Given the description of an element on the screen output the (x, y) to click on. 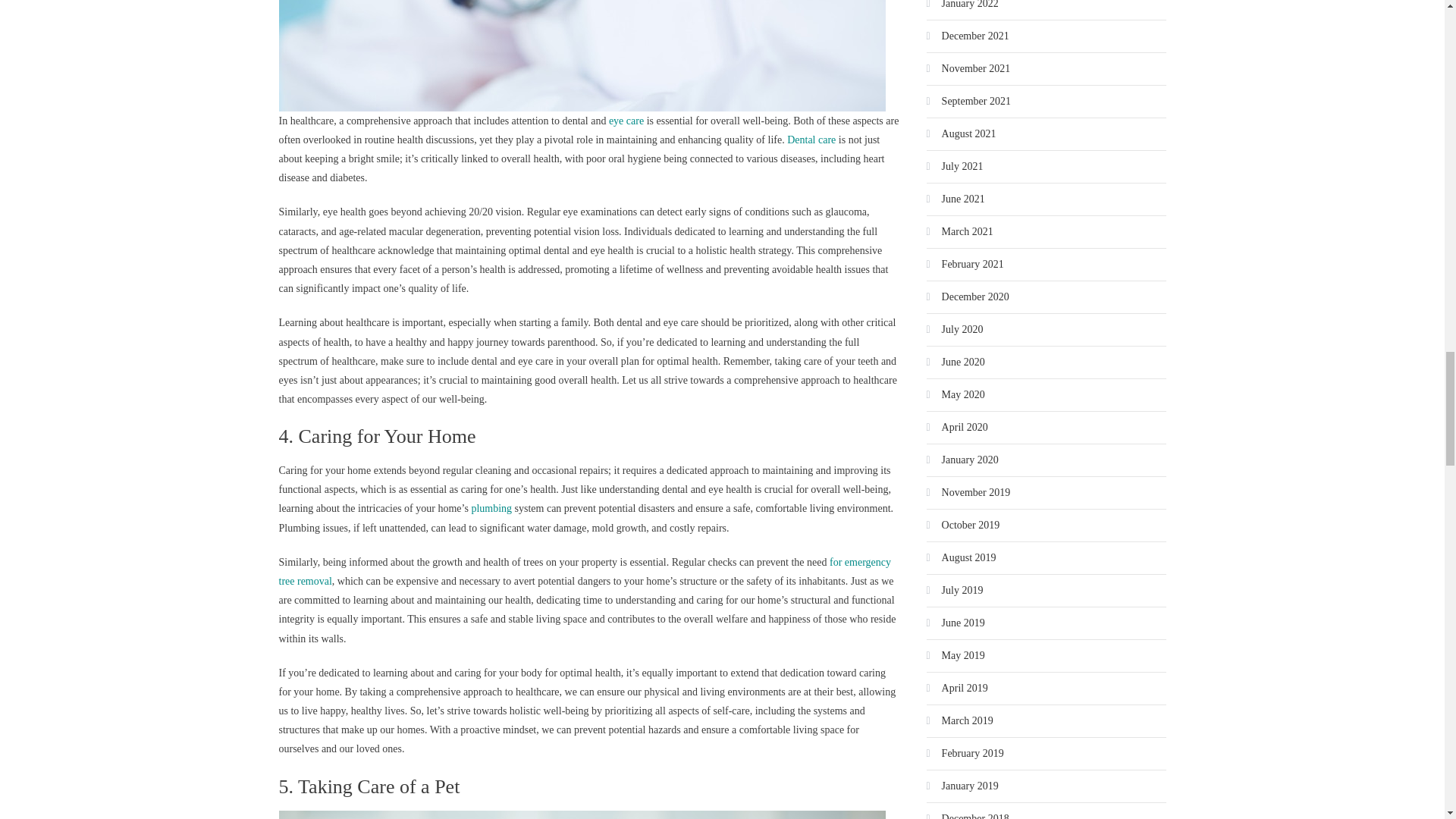
eye care (625, 120)
plumbing (491, 508)
for emergency tree removal (585, 571)
Dental care (811, 139)
